Given the description of an element on the screen output the (x, y) to click on. 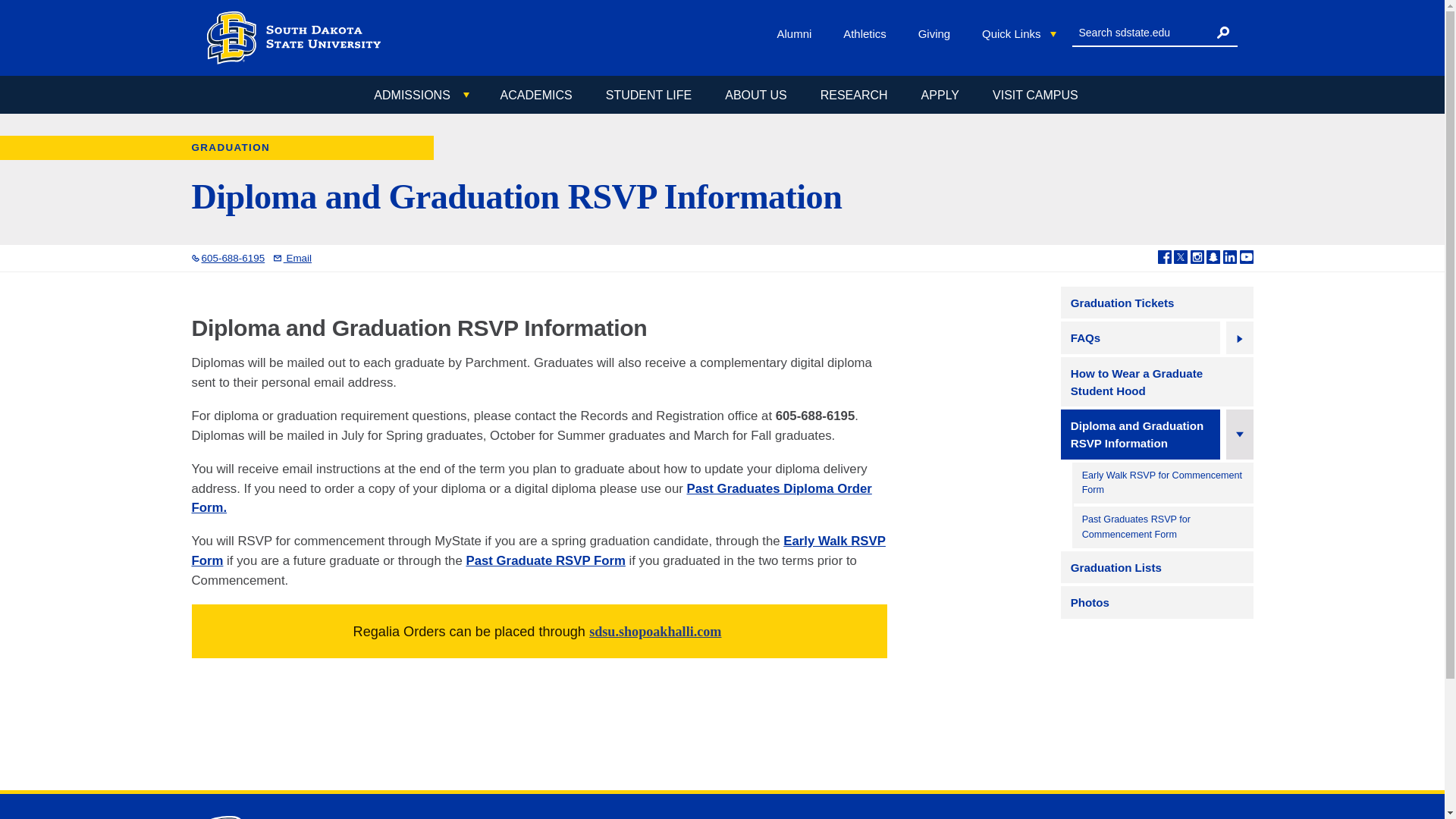
ADMISSIONS (420, 95)
RESEARCH (854, 94)
Search (1222, 32)
Email Jamison Lamp (292, 257)
Giving (937, 33)
APPLY (940, 94)
Past Graduate RSVP Form (544, 560)
Graduation Ceremony RSVP (530, 498)
Alumni (797, 33)
STUDENT LIFE (648, 94)
Quick Links (1019, 34)
Early Walk RSVP Form (537, 550)
Athletics (867, 33)
South Dakota State University Home Page (224, 817)
Residential life, clubs and organizations, dining (648, 94)
